Given the description of an element on the screen output the (x, y) to click on. 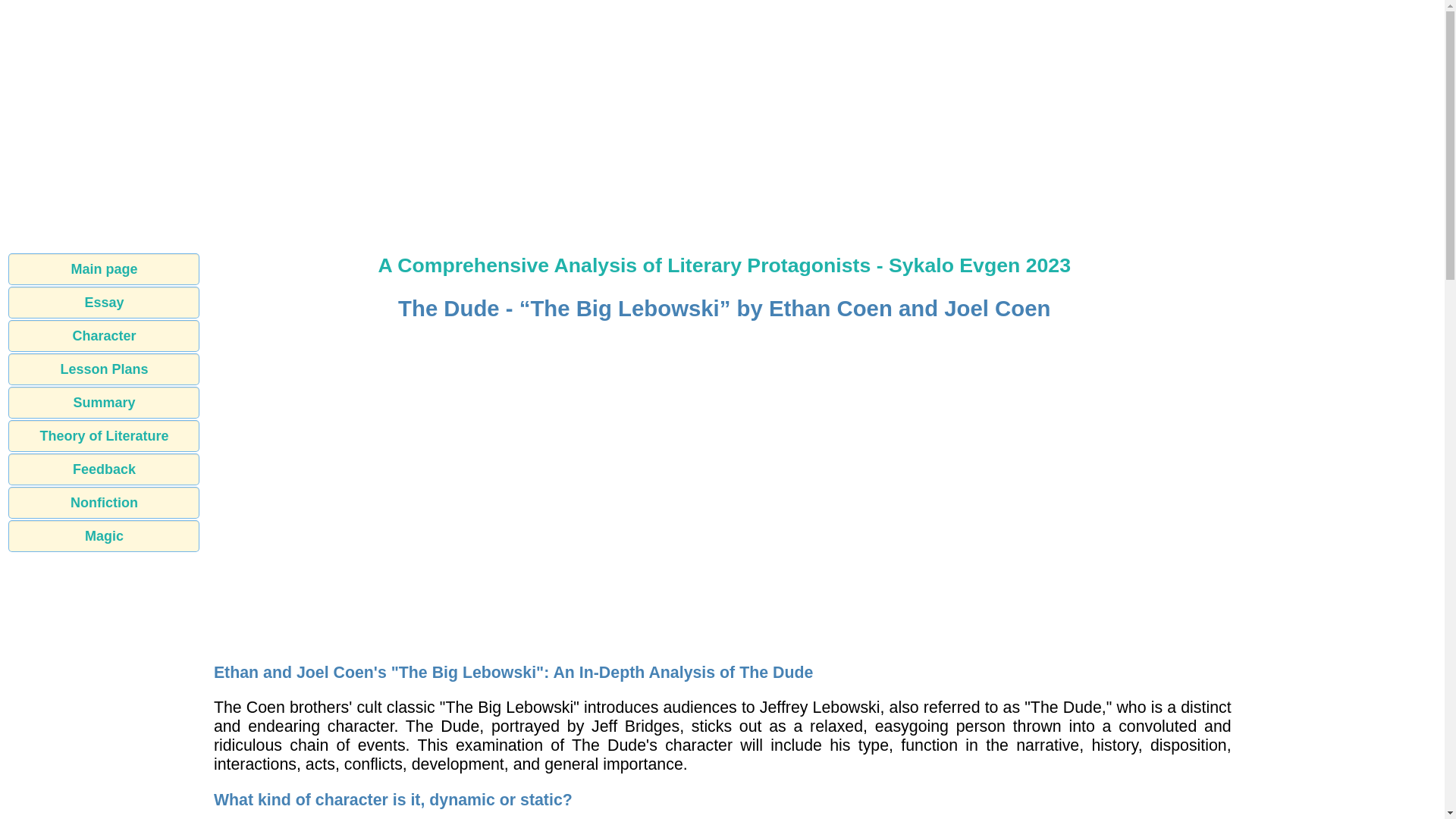
Lesson Plans (103, 368)
Magic (103, 536)
Nonfiction (103, 502)
Essay (103, 302)
Feedback (103, 469)
Main page (103, 269)
Summary (103, 402)
Theory of Literature (103, 436)
Character (103, 336)
